Given the description of an element on the screen output the (x, y) to click on. 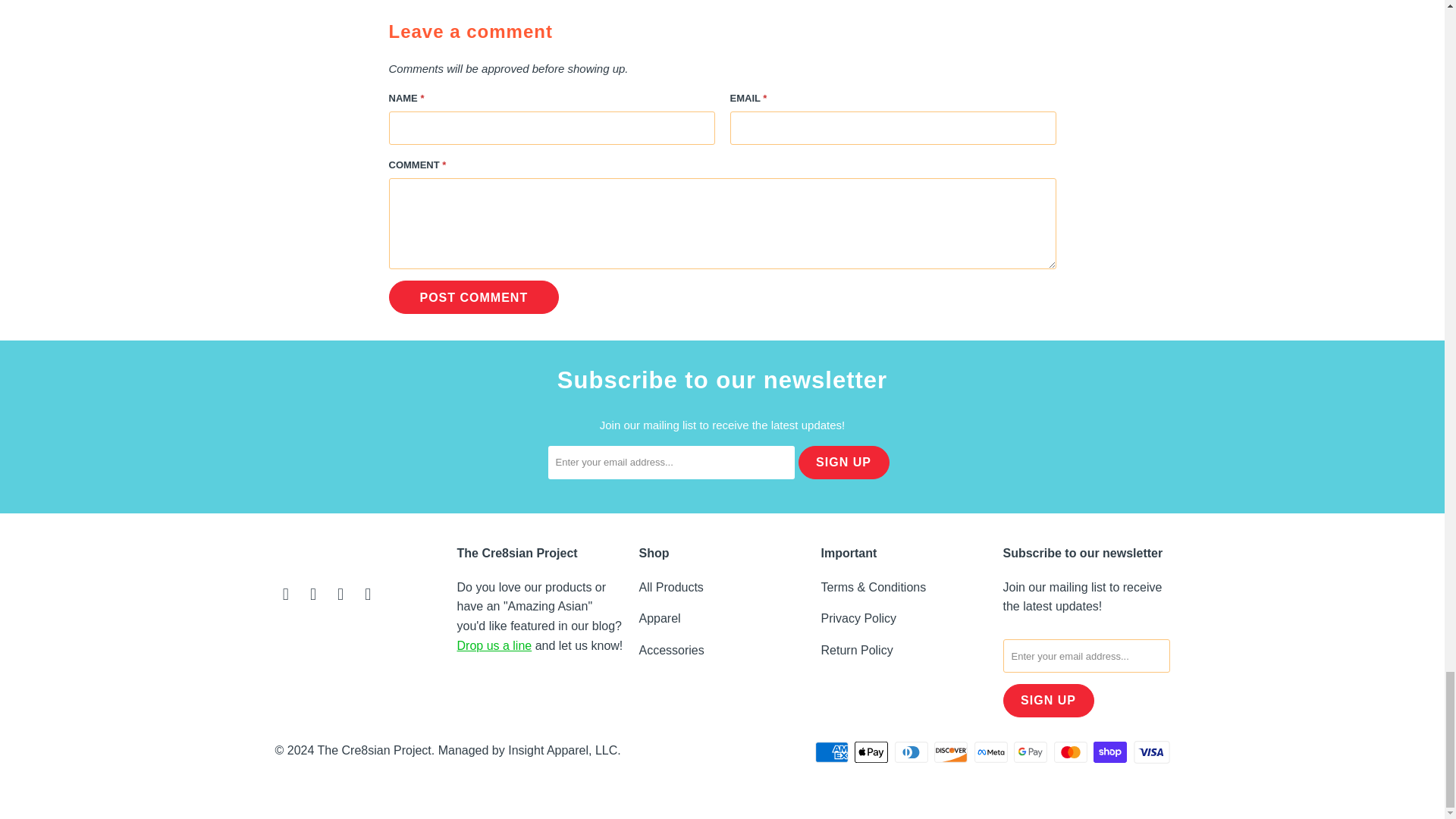
Post comment (473, 296)
Meta Pay (992, 752)
The Cre8sian Project on Twitter (286, 594)
Diners Club (913, 752)
Mastercard (1072, 752)
American Express (833, 752)
Shop Pay (1111, 752)
Discover (952, 752)
Sign Up (1048, 700)
Google Pay (1031, 752)
